Given the description of an element on the screen output the (x, y) to click on. 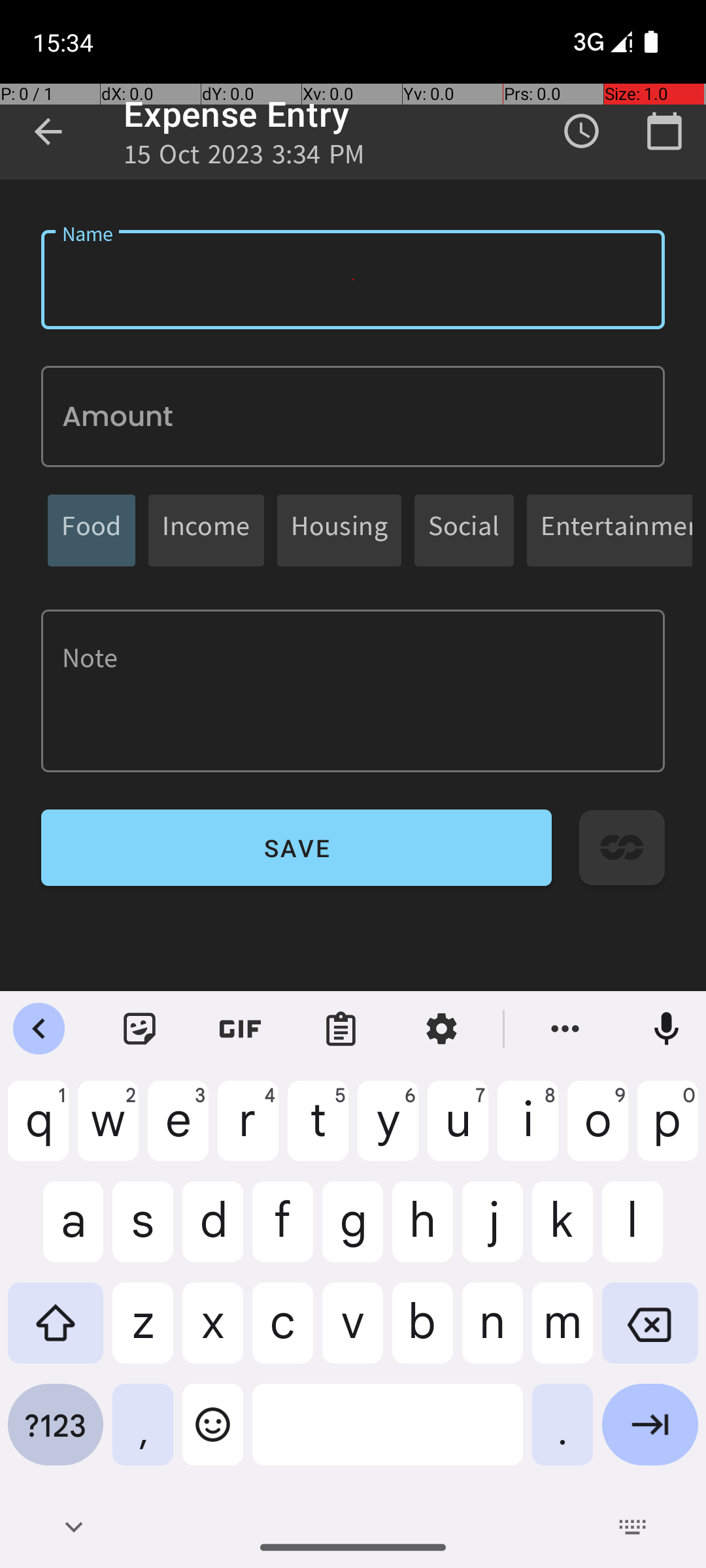
Name Element type: android.widget.EditText (352, 279)
Close features menu Element type: android.widget.FrameLayout (39, 1028)
Sticker Keyboard Element type: android.widget.FrameLayout (139, 1028)
GIF Keyboard Element type: android.widget.FrameLayout (240, 1028)
Clipboard Element type: android.widget.FrameLayout (340, 1028)
More features Element type: android.widget.FrameLayout (565, 1028)
Next Element type: android.widget.FrameLayout (649, 1434)
